Given the description of an element on the screen output the (x, y) to click on. 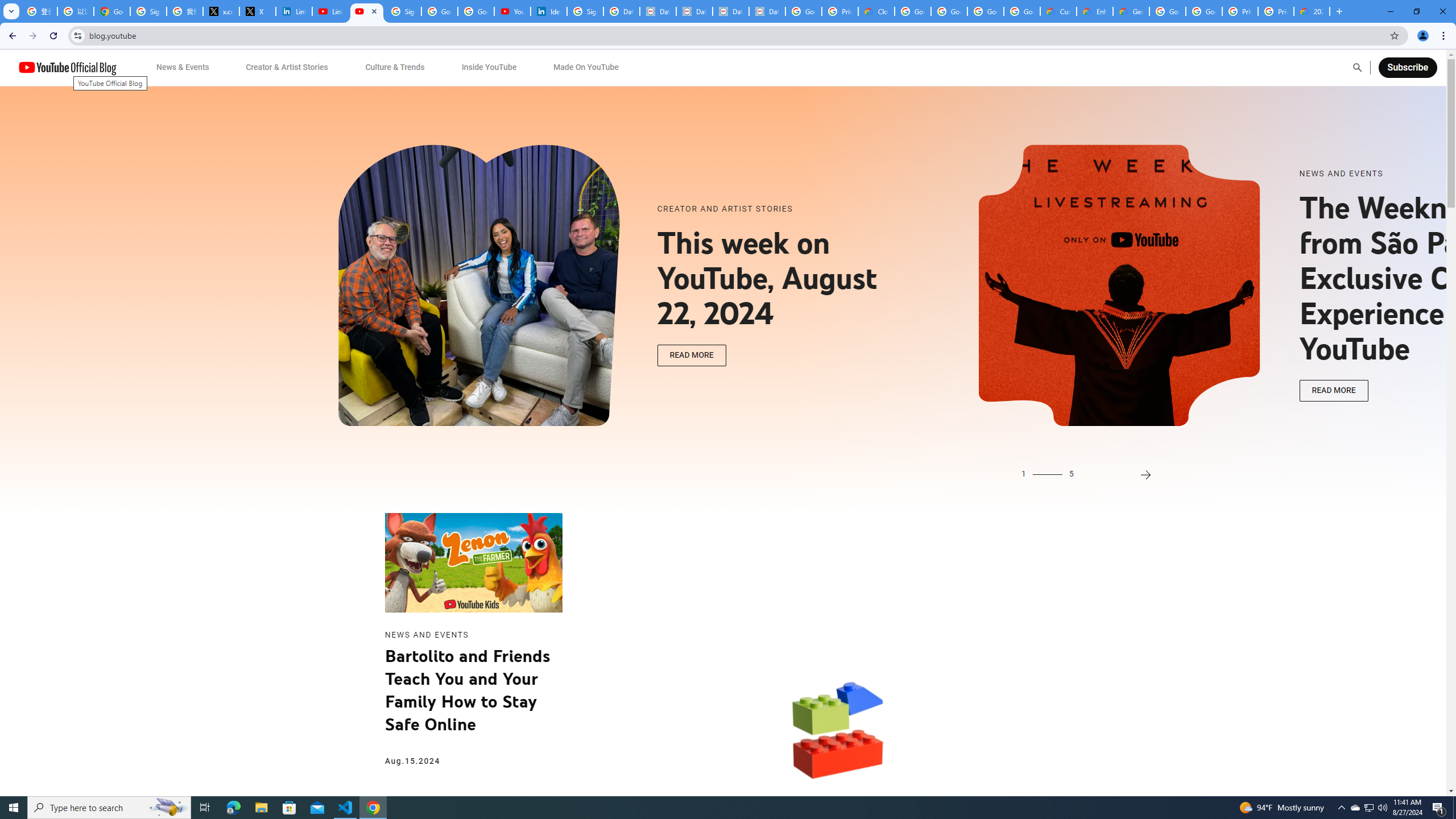
Subscribe (1407, 67)
Data Privacy Framework (694, 11)
Google Workspace - Specific Terms (1021, 11)
Customer Care | Google Cloud (1058, 11)
Data Privacy Framework (730, 11)
Made On YouTube (585, 67)
